Given the description of an element on the screen output the (x, y) to click on. 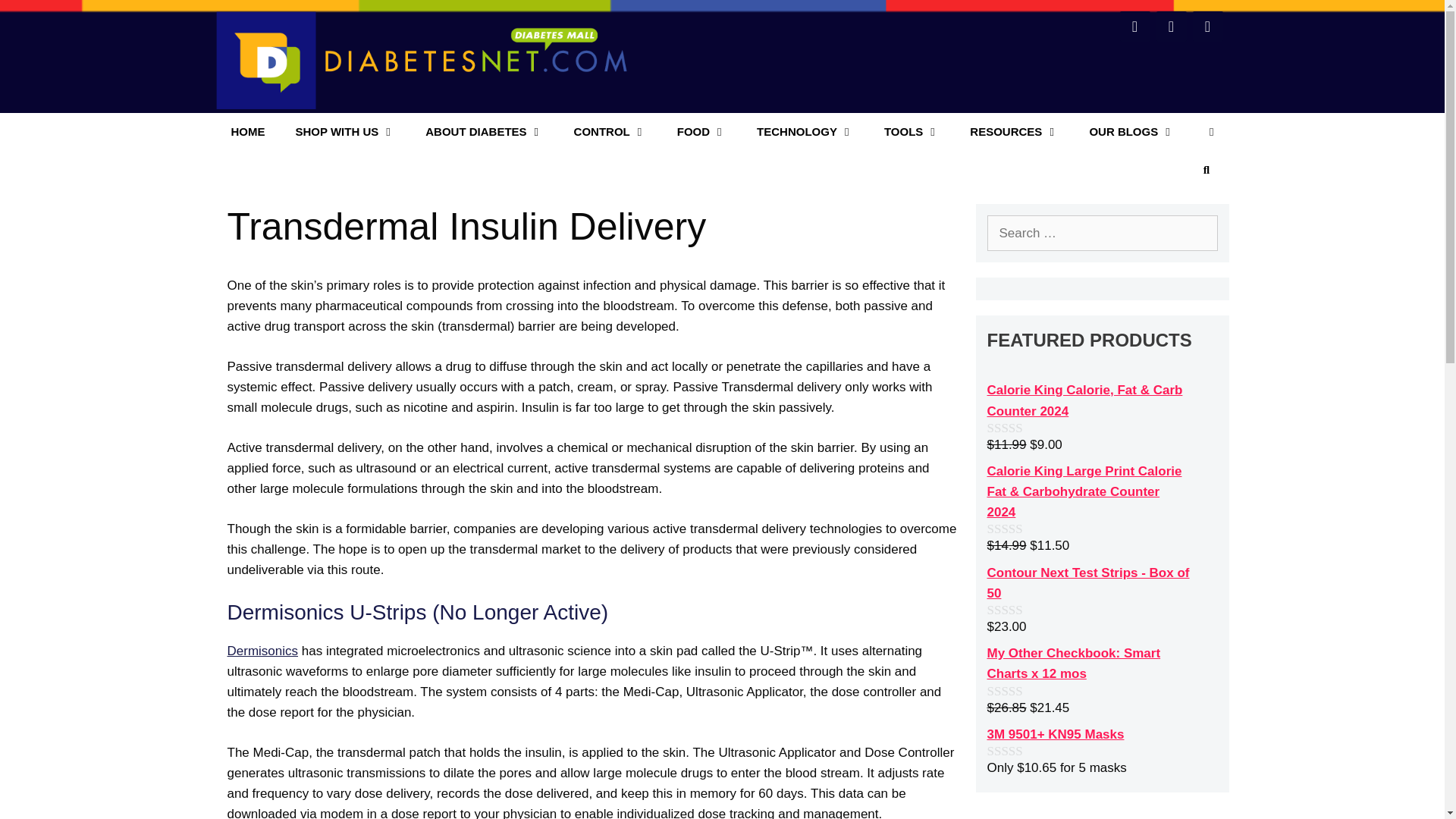
Not yet rated (1022, 528)
Not yet rated (1022, 750)
RSS (1207, 26)
Not yet rated (1022, 427)
Not yet rated (1022, 690)
Twitter (1171, 26)
Search for: (1102, 233)
Not yet rated (1022, 609)
Facebook (1134, 26)
View your shopping cart (1210, 131)
